Given the description of an element on the screen output the (x, y) to click on. 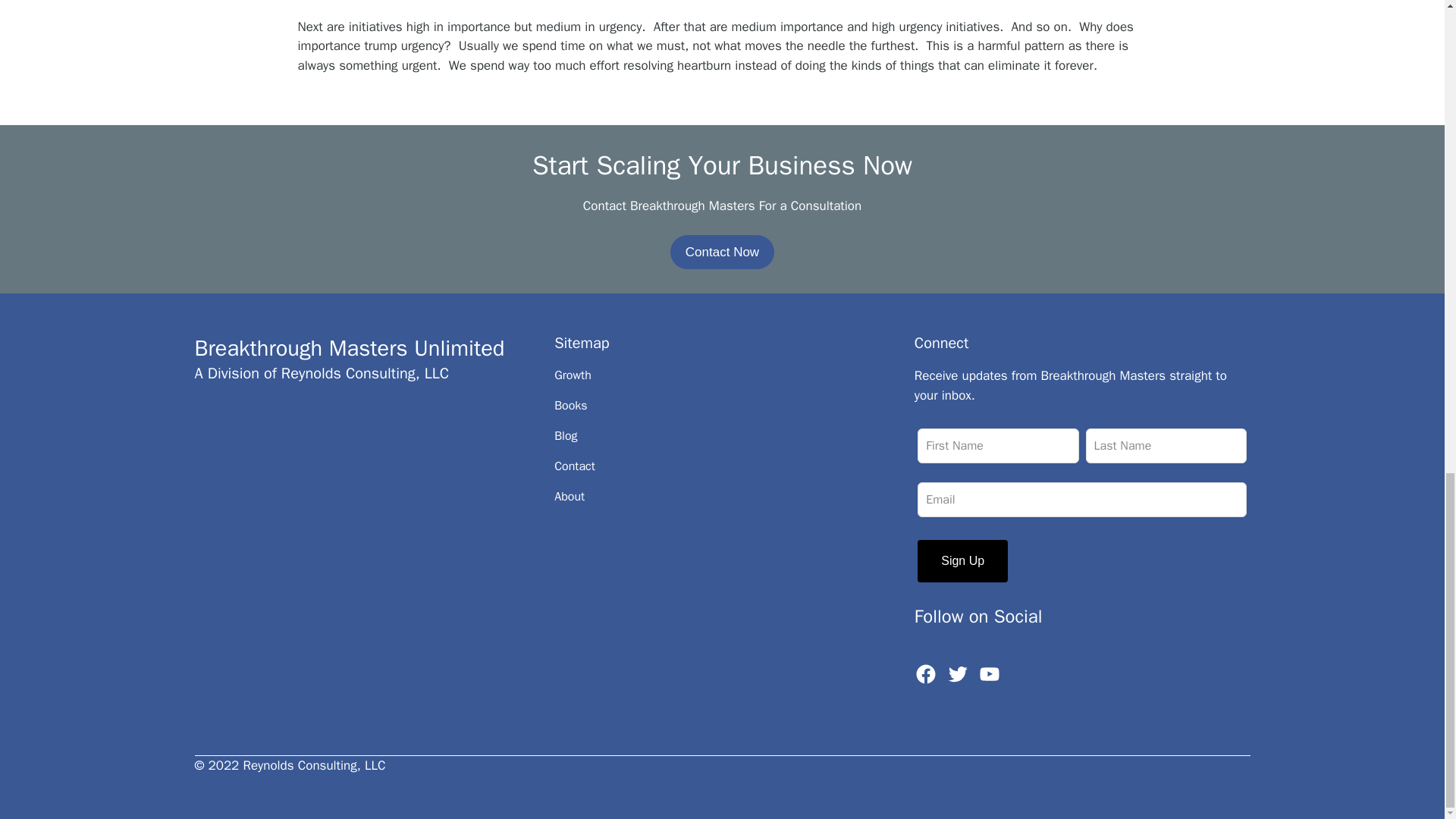
About (569, 496)
Contact (574, 466)
Growth (572, 375)
Books (570, 405)
Blog (565, 435)
Contact Now (721, 252)
